Given the description of an element on the screen output the (x, y) to click on. 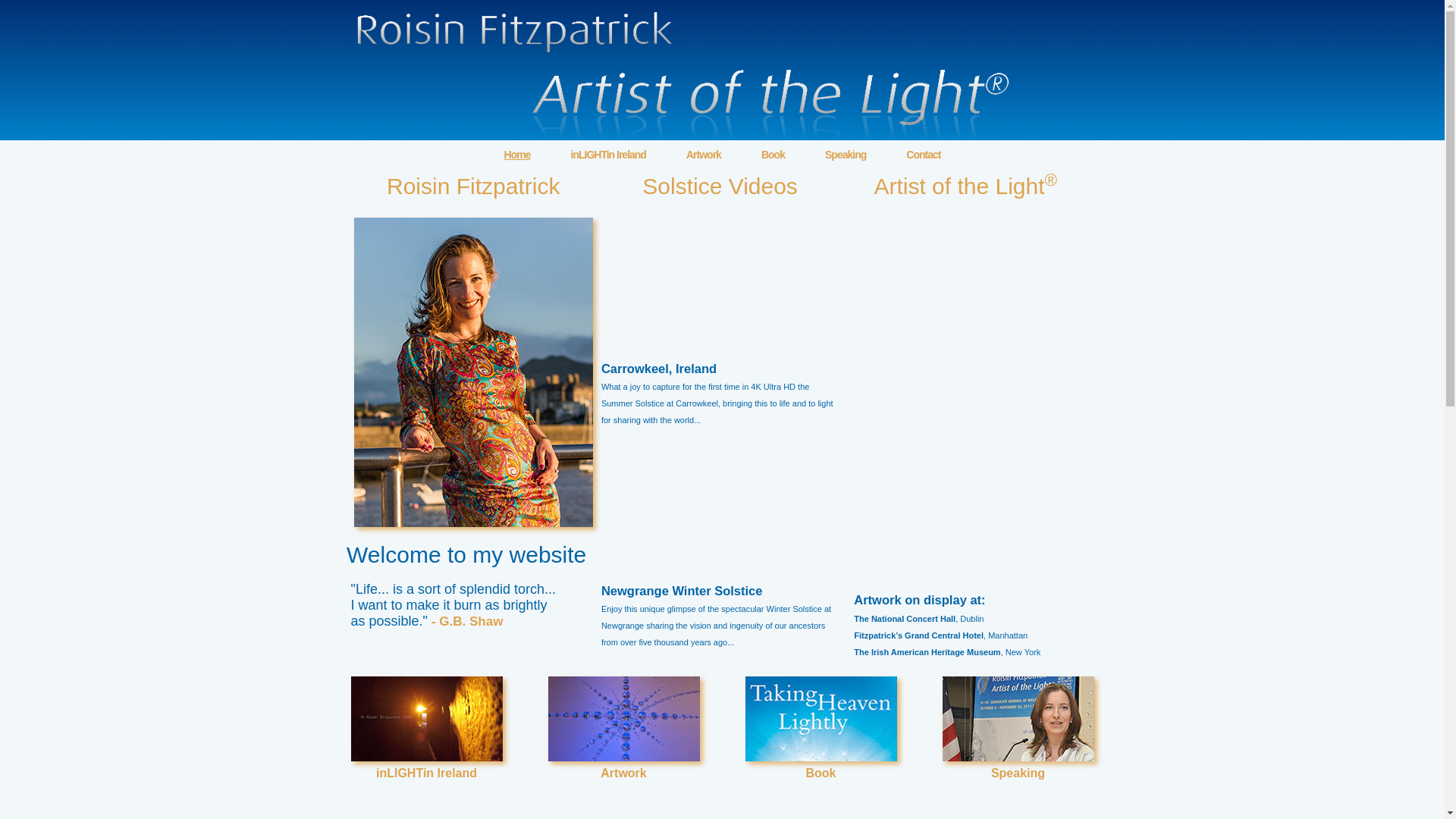
Speaking (845, 154)
Book (772, 154)
Artwork (702, 154)
Home (517, 154)
YouTube video player (720, 508)
inLIGHTin Ireland (608, 154)
YouTube video player (720, 286)
Artwork (622, 746)
inLIGHTin Ireland (426, 746)
Book (820, 746)
